Given the description of an element on the screen output the (x, y) to click on. 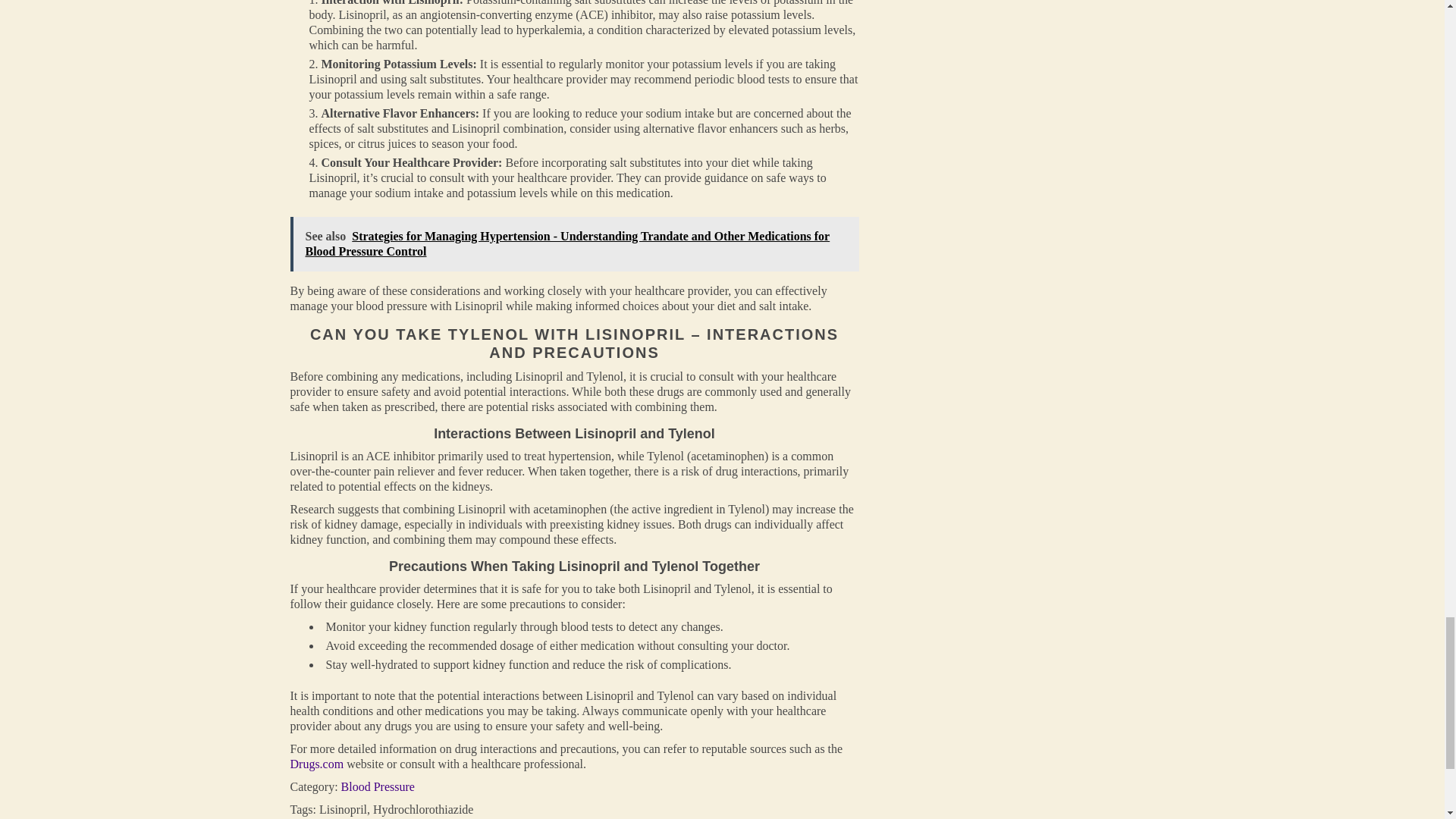
Drugs.com (316, 763)
Blood Pressure (377, 786)
